Given the description of an element on the screen output the (x, y) to click on. 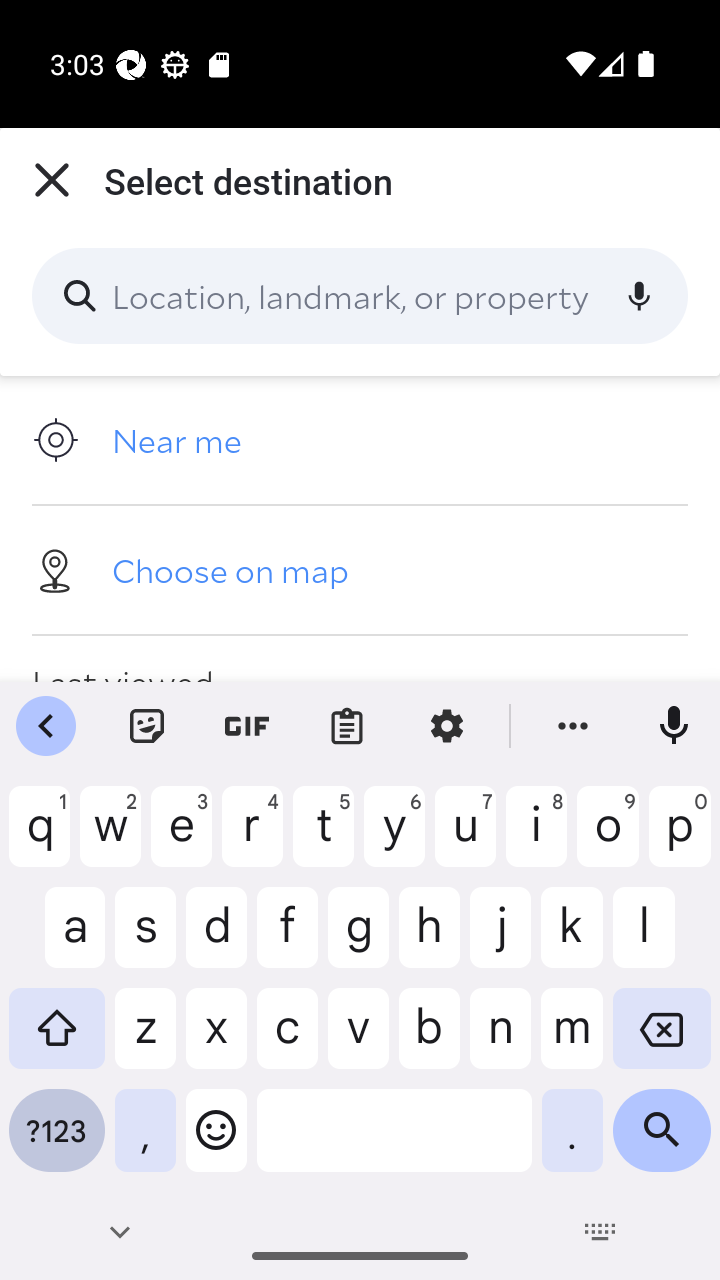
Location, landmark, or property (359, 296)
Near me (360, 440)
Choose on map (360, 569)
